Given the description of an element on the screen output the (x, y) to click on. 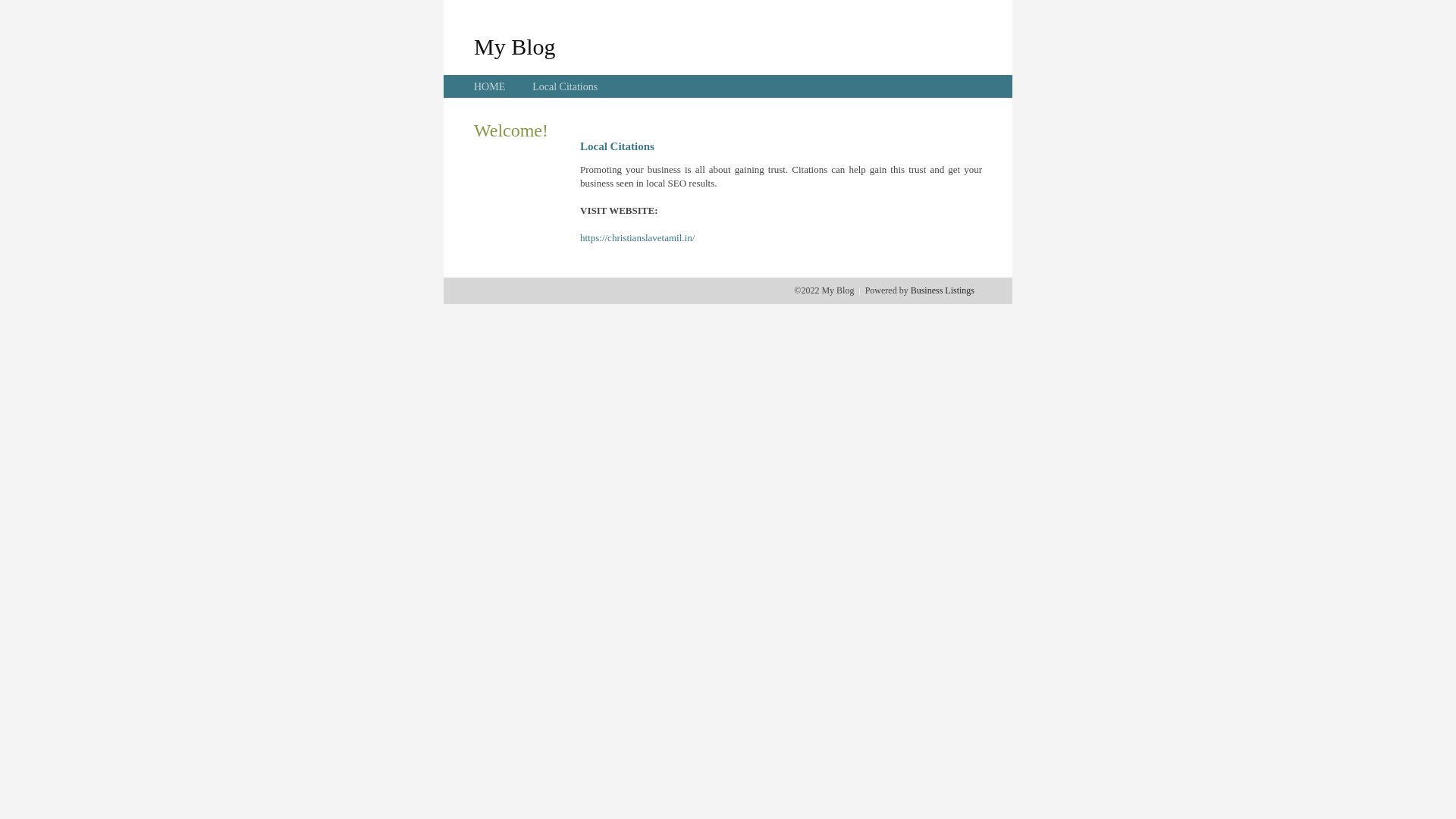
Business Listings Element type: text (942, 290)
Local Citations Element type: text (564, 86)
My Blog Element type: text (514, 46)
HOME Element type: text (489, 86)
https://christianslavetamil.in/ Element type: text (637, 237)
